Given the description of an element on the screen output the (x, y) to click on. 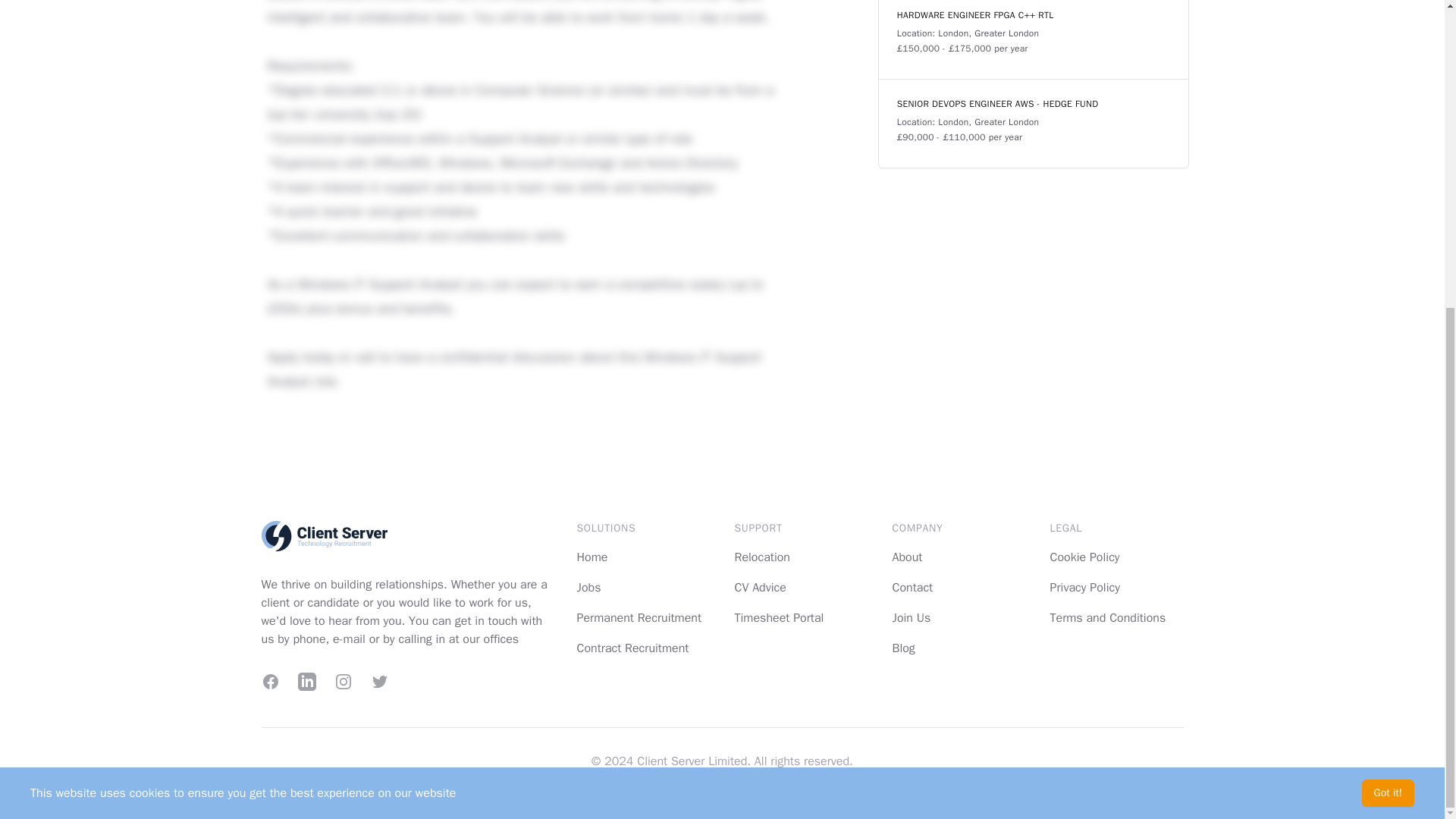
Instagram (342, 681)
Timesheet Portal (778, 617)
Contact (912, 587)
Permanent Recruitment (638, 617)
Cookie Policy (1084, 557)
Home (591, 557)
Jobs (587, 587)
Twitter (378, 681)
About (906, 557)
Facebook (269, 681)
Privacy Policy (1084, 587)
CV Advice (759, 587)
Got it! (1387, 307)
Relocation (761, 557)
Blog (902, 648)
